Given the description of an element on the screen output the (x, y) to click on. 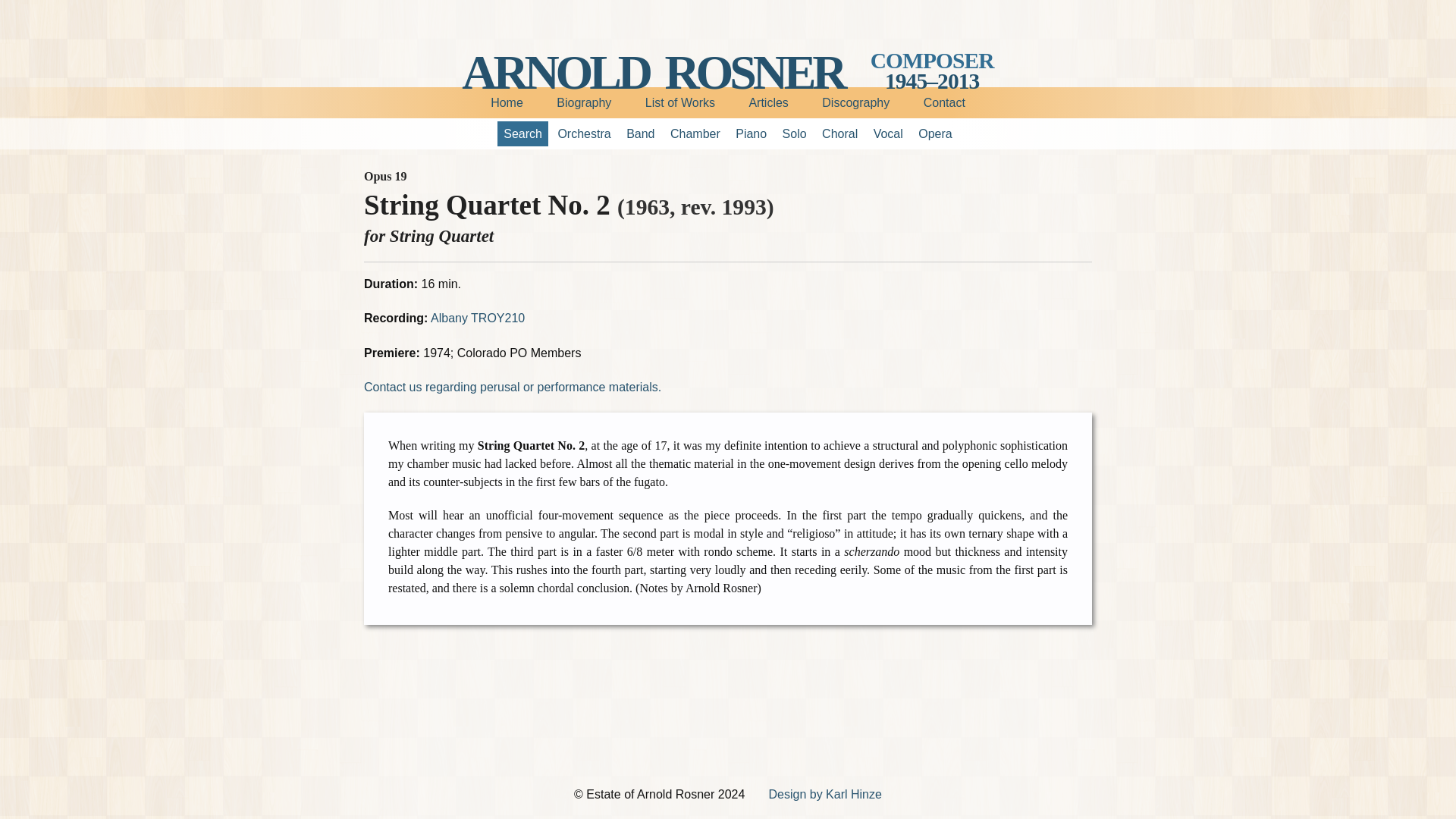
Orchestra (583, 133)
Search (522, 133)
Piano (751, 133)
Vocal (887, 133)
Choral (839, 133)
Contact us regarding perusal or performance materials. (512, 386)
Biography (583, 102)
Opera (935, 133)
Articles (768, 102)
List of Works (680, 102)
Design by Karl Hinze (824, 793)
Albany TROY210 (477, 318)
Home (507, 102)
Discography (855, 102)
Solo (794, 133)
